Given the description of an element on the screen output the (x, y) to click on. 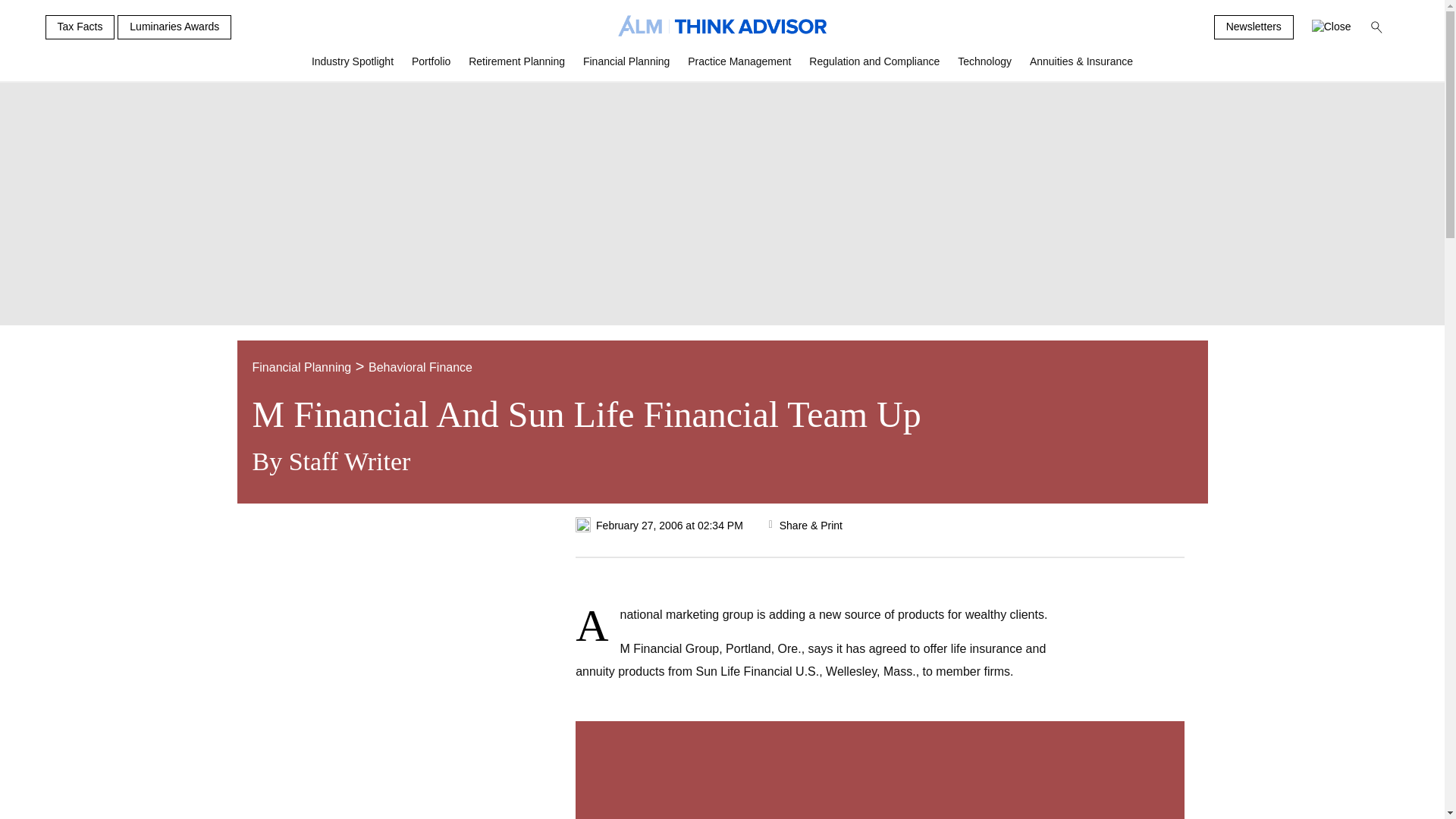
Luminaries Awards (174, 27)
Industry Spotlight (352, 67)
Tax Facts (80, 27)
Newsletters (1254, 27)
